Given the description of an element on the screen output the (x, y) to click on. 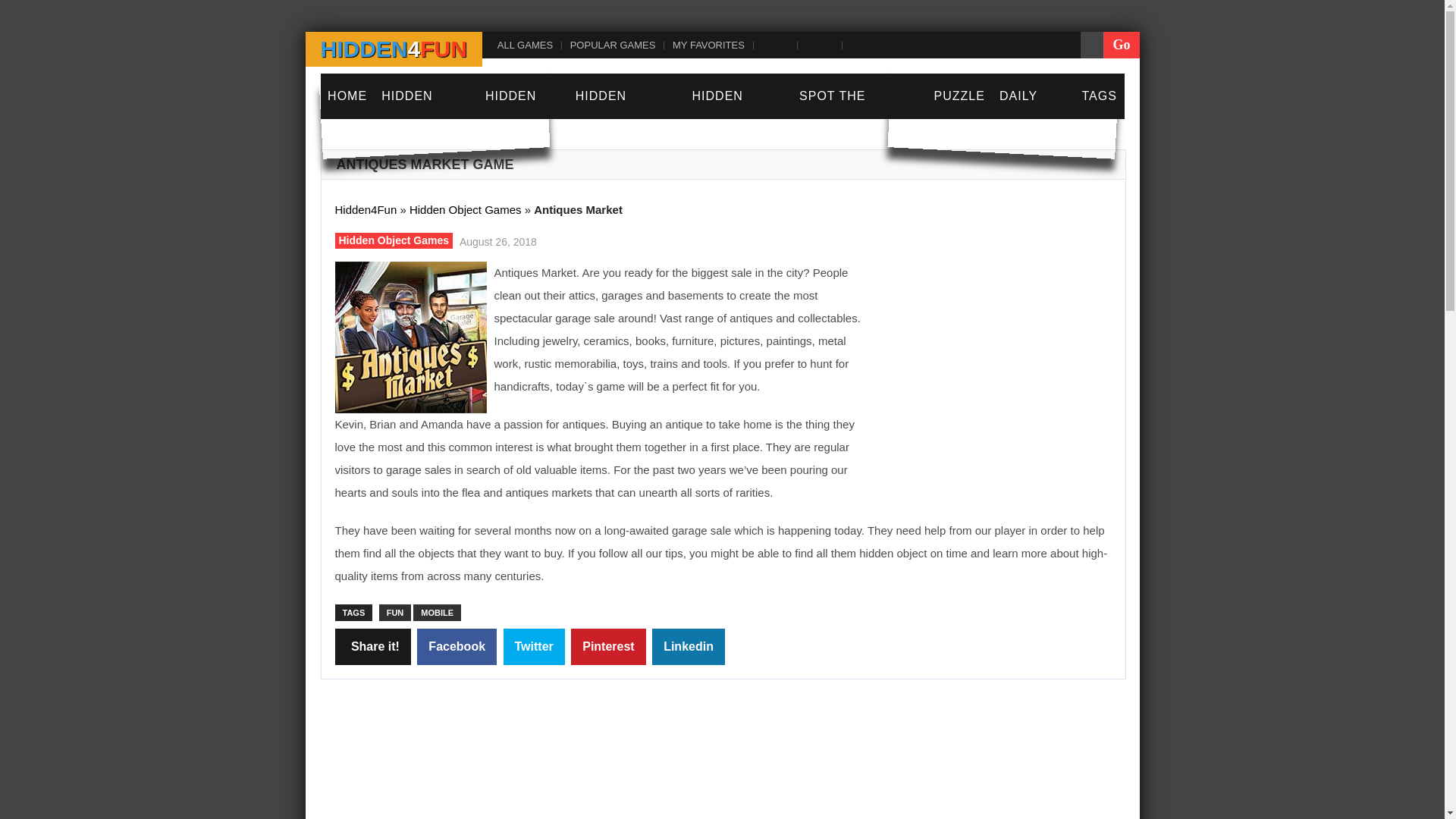
PUZZLE (959, 95)
Hidden Object Games (393, 240)
Facebook (456, 646)
HIDDEN ALPHABETS (625, 118)
Go (1120, 44)
MY FAVORITES (706, 44)
Play Free Online Hidden Object Games at Hidden4Fun (392, 48)
Advertisement (775, 764)
FUN (395, 612)
Hidden Object Games (465, 209)
Twitter (533, 646)
10:45 PM (496, 240)
Follow us on Twitter (817, 44)
SPOT THE DIFFERENCE (859, 118)
HOME (347, 95)
